Given the description of an element on the screen output the (x, y) to click on. 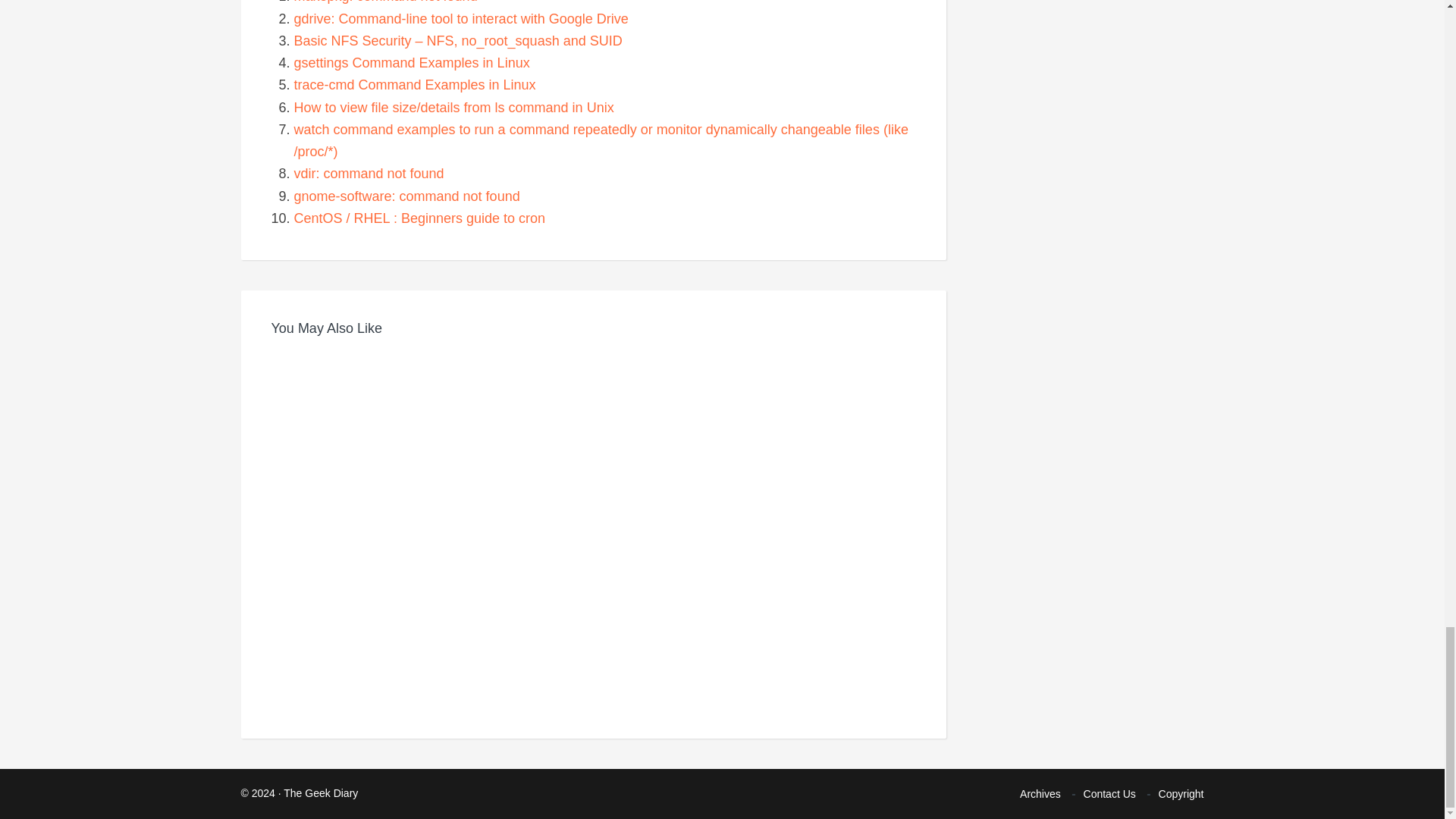
Permanent Link tognome-software: command not found (406, 196)
Archives (1040, 793)
Permanent Link togsettings Command Examples in Linux (411, 62)
trace-cmd Command Examples in Linux (414, 84)
Contact Us (1109, 793)
gsettings Command Examples in Linux (411, 62)
makepkg: command not found (385, 2)
Permanent Link tomakepkg: command not found (385, 2)
Permanent Link tovdir: command not found (369, 173)
